Given the description of an element on the screen output the (x, y) to click on. 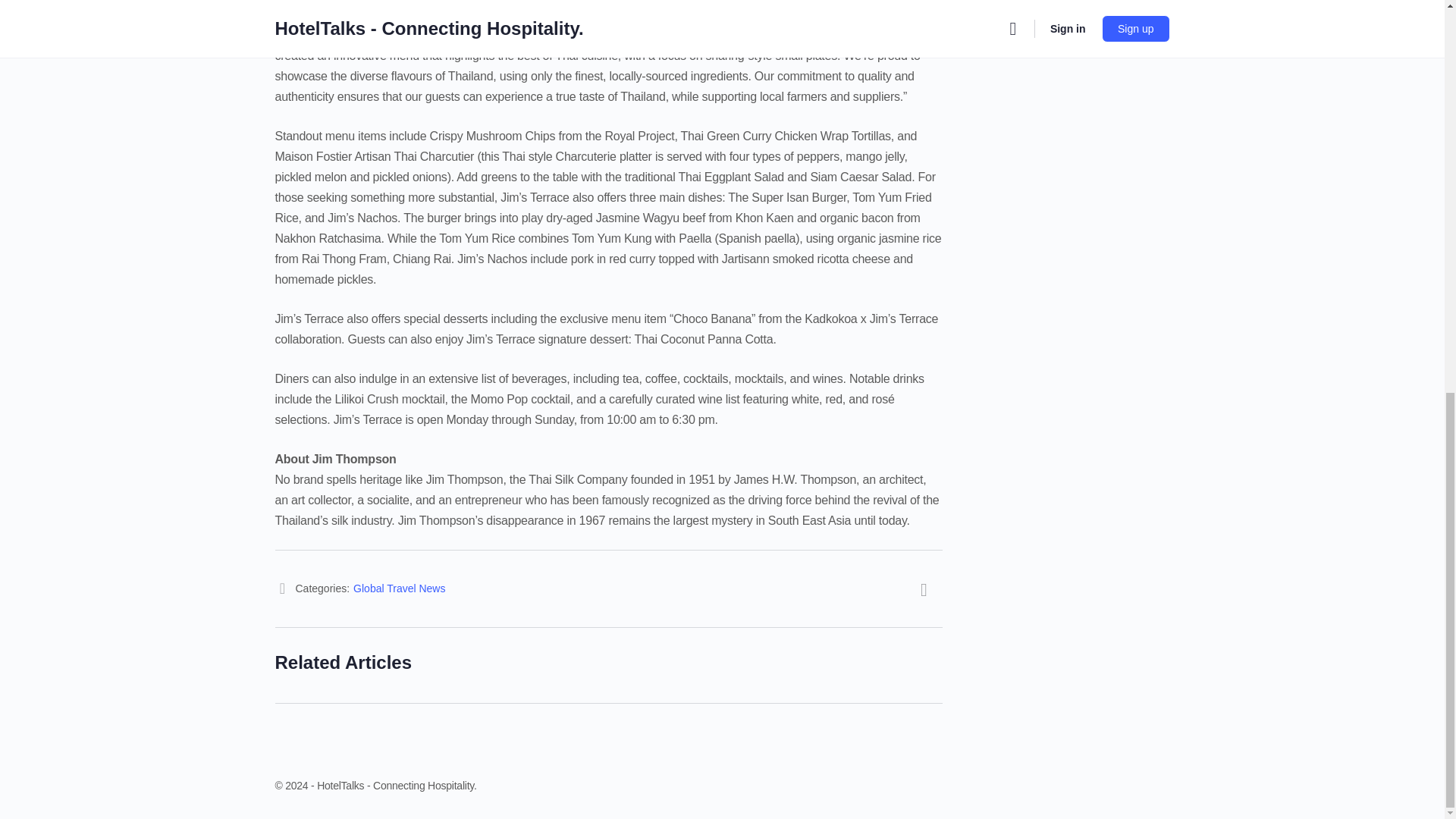
Global Travel News (399, 588)
